Given the description of an element on the screen output the (x, y) to click on. 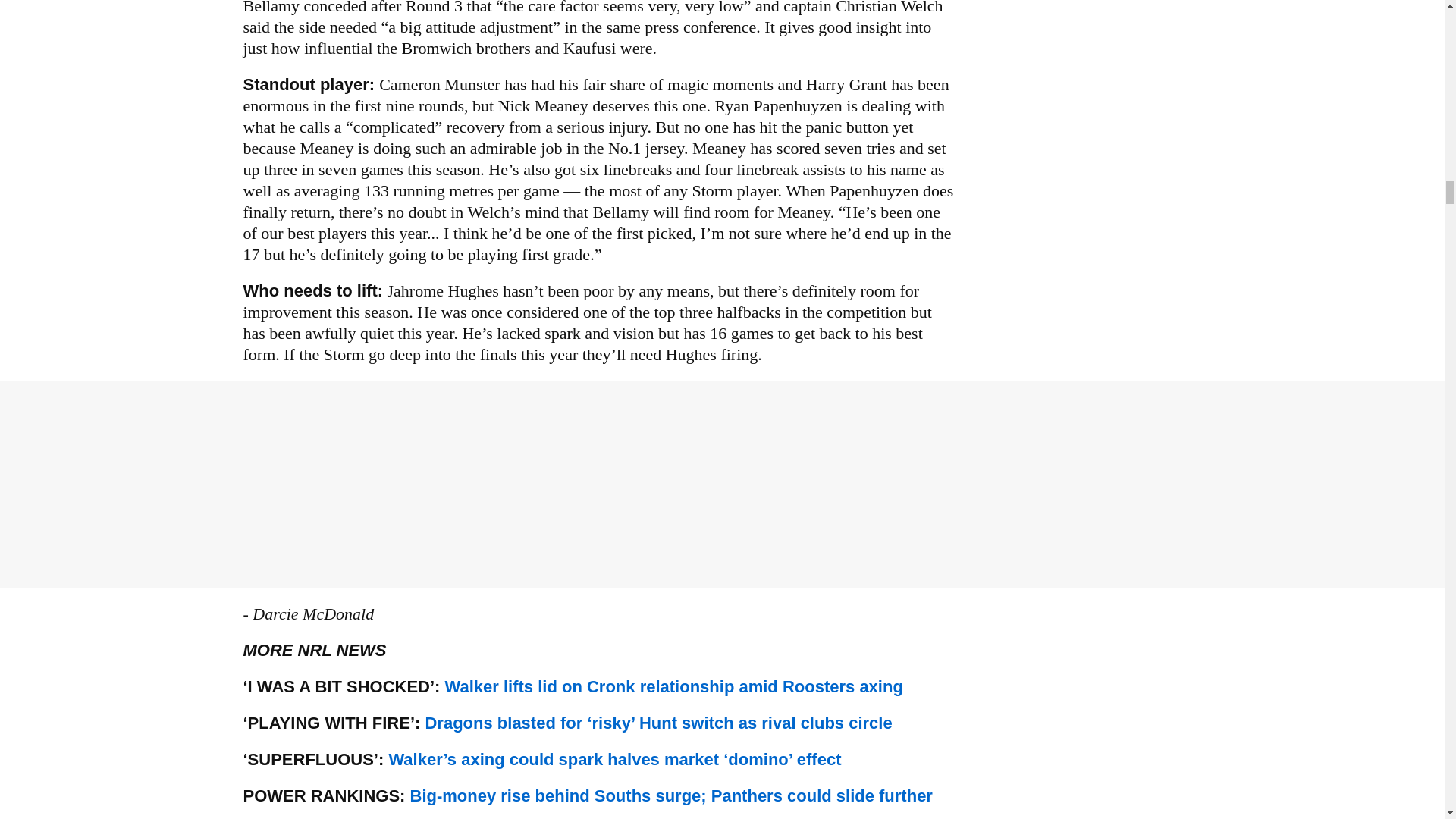
Walker lifts lid on Cronk relationship amid Roosters axing (673, 686)
